Given the description of an element on the screen output the (x, y) to click on. 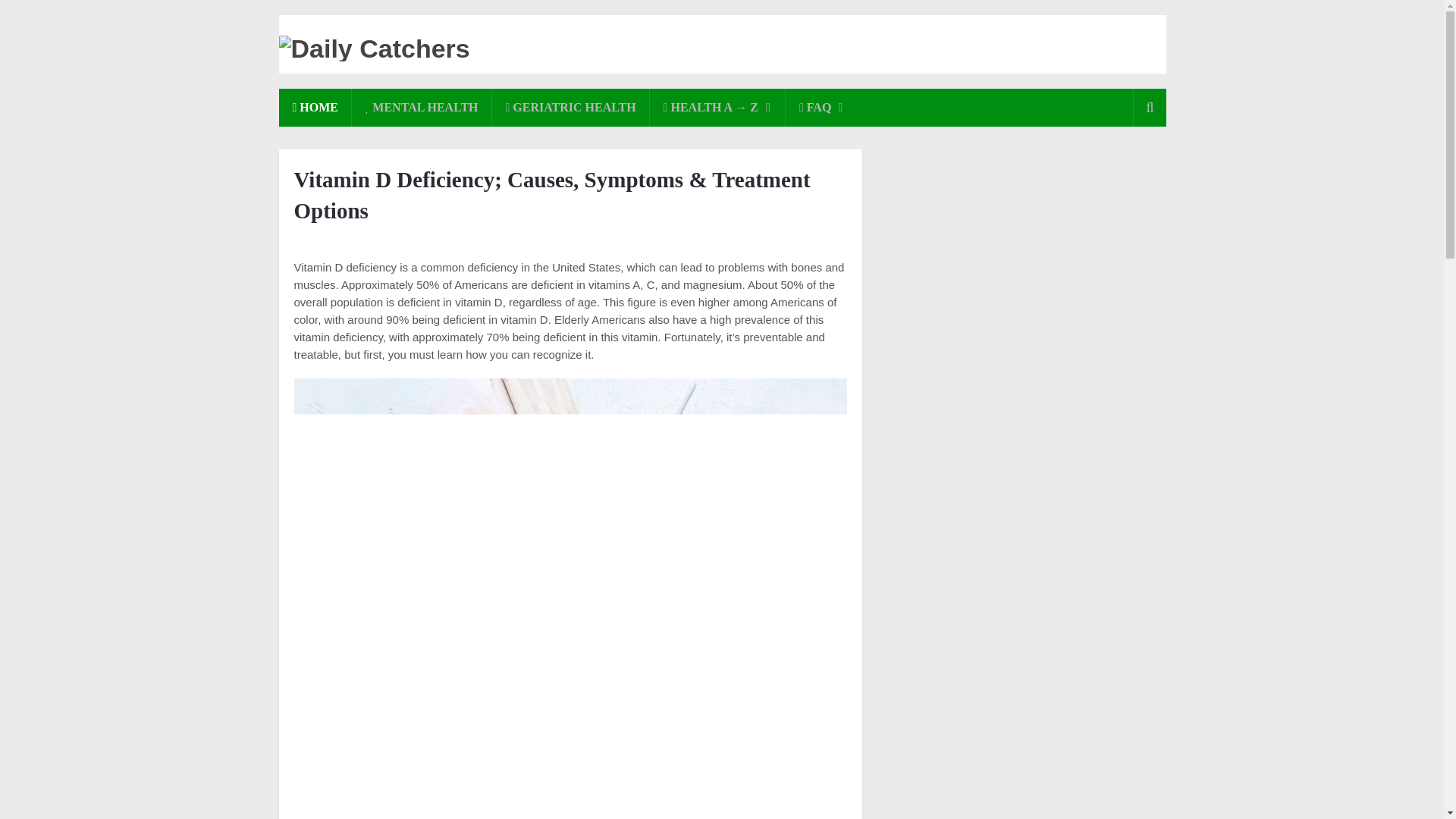
GERIATRIC HEALTH (570, 107)
MENTAL HEALTH (422, 107)
HOME (315, 107)
FAQ (821, 107)
